Given the description of an element on the screen output the (x, y) to click on. 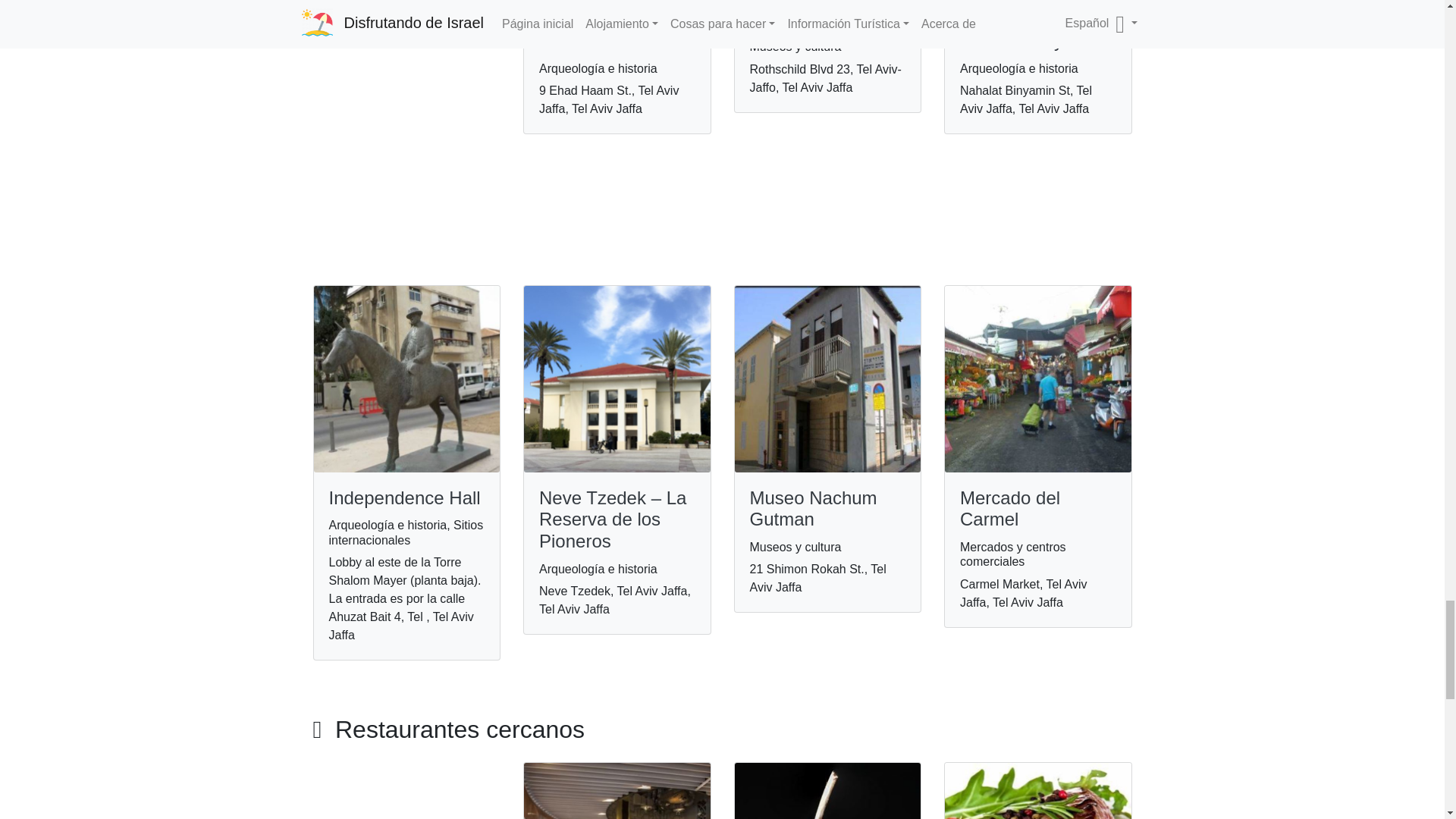
Migdal Shalom Meir (598, 30)
Museo Nachum Gutman (812, 508)
Independence Hall (404, 497)
Museo Hagana (810, 19)
Zona Peatonal de Nahalat Binyamin (1031, 30)
